Given the description of an element on the screen output the (x, y) to click on. 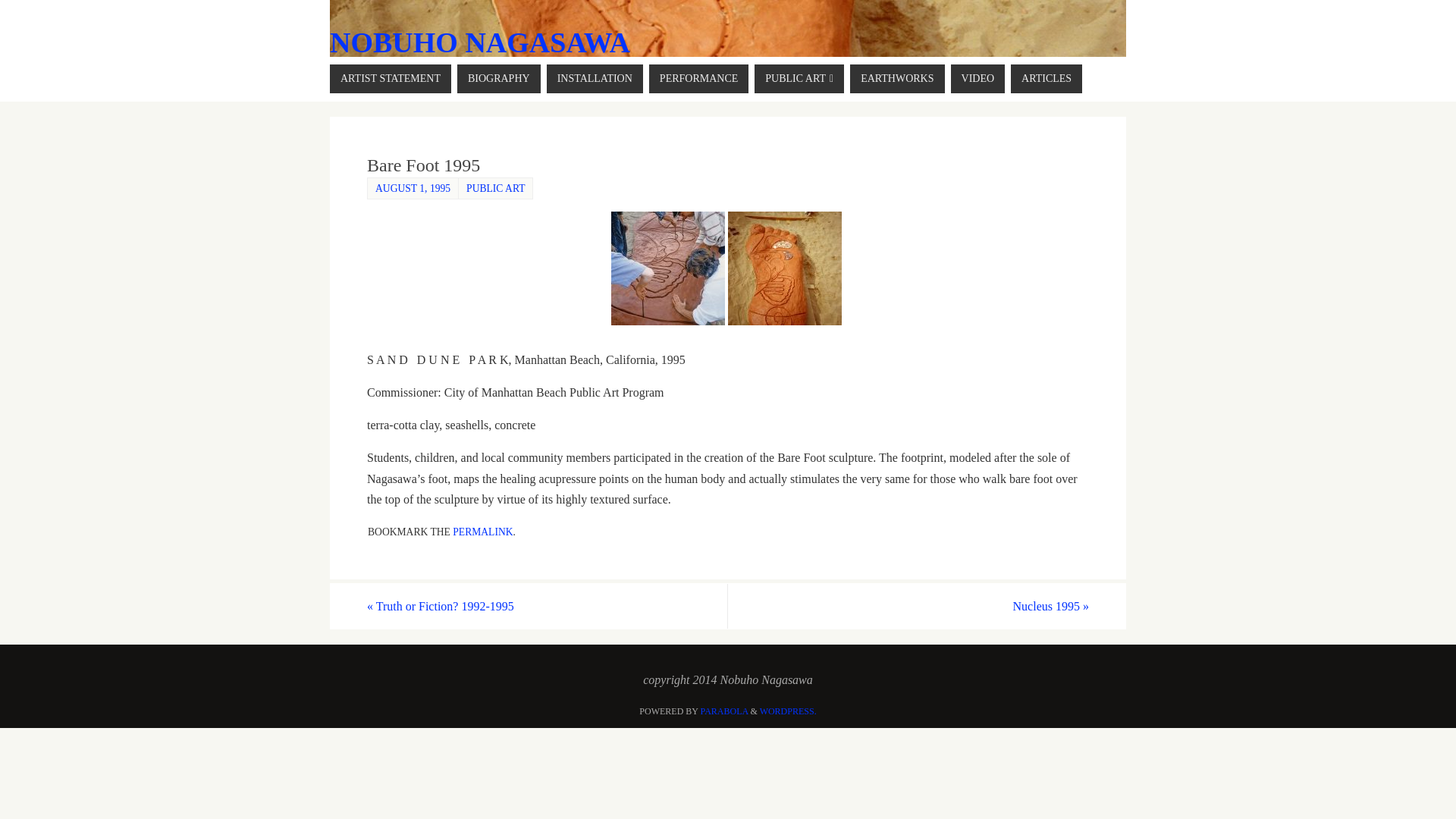
Permalink to Bare Foot  1995 (482, 531)
PERMALINK (482, 531)
Nobuho Nagasawa (480, 42)
PUBLIC ART (799, 78)
AUGUST 1, 1995 (412, 188)
EARTHWORKS (896, 78)
WORDPRESS. (788, 710)
Parabola Theme by Cryout Creations (724, 710)
Semantic Personal Publishing Platform (788, 710)
ARTICLES (1045, 78)
